Given the description of an element on the screen output the (x, y) to click on. 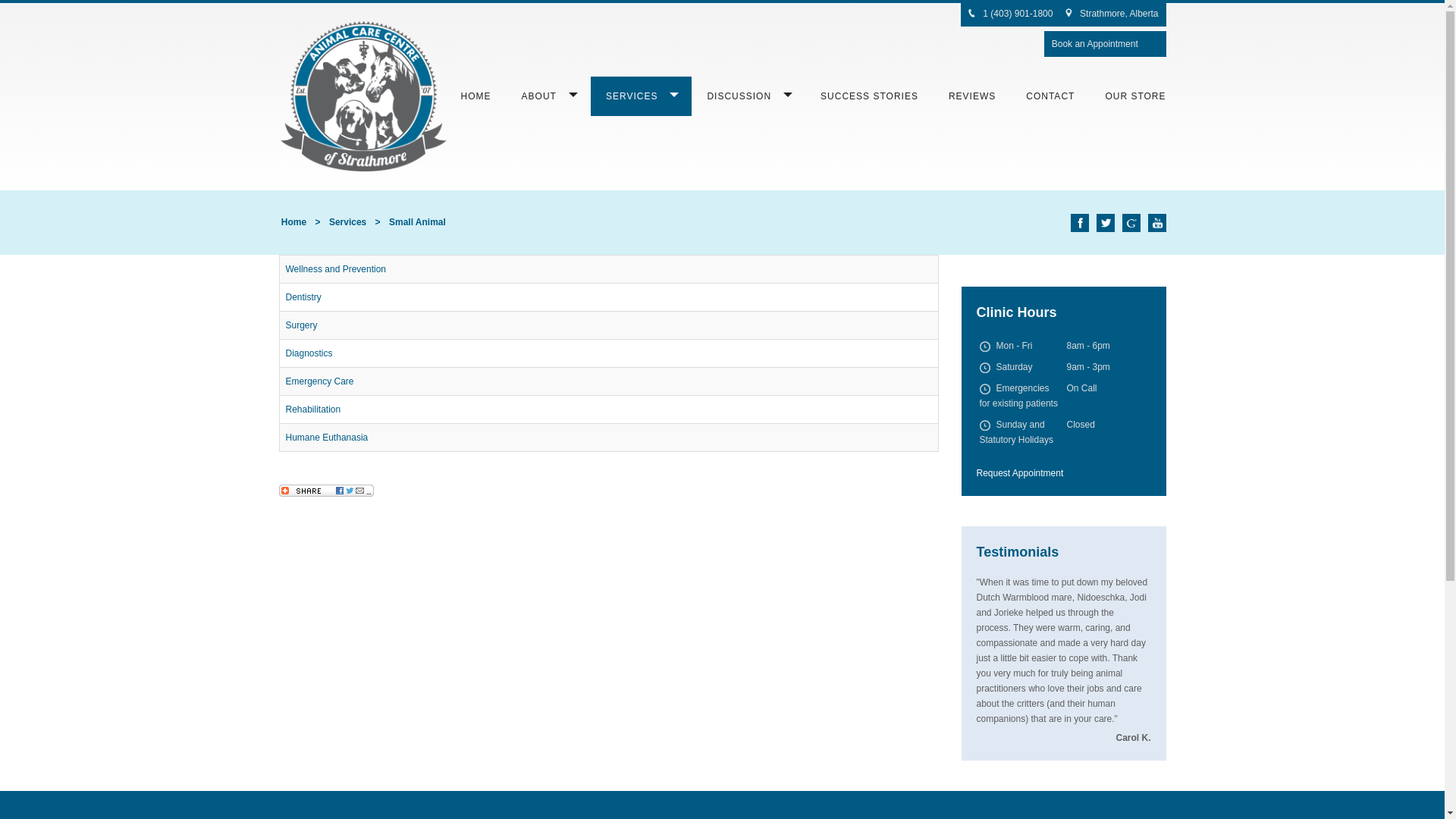
REVIEWS Element type: text (971, 96)
OUR STORE Element type: text (1134, 96)
ABOUT Element type: text (548, 96)
DISCUSSION Element type: text (748, 96)
SUCCESS STORIES Element type: text (869, 96)
Services Element type: text (347, 221)
SERVICES Element type: text (640, 96)
Humane Euthanasia Element type: text (326, 437)
Dentistry Element type: text (302, 296)
Strathmore, Alberta Element type: text (1118, 13)
HOME Element type: text (475, 96)
Request Appointment Element type: text (1019, 472)
Book an Appointment Element type: text (1094, 43)
Diagnostics Element type: text (308, 353)
Surgery Element type: text (300, 325)
Google+ Element type: hover (1131, 222)
Twitter Element type: hover (1105, 222)
Facebook Element type: hover (1079, 222)
Wellness and Prevention Element type: text (335, 268)
YouTube Element type: hover (1157, 222)
Home Element type: text (293, 221)
CONTACT Element type: text (1049, 96)
Emergency Care Element type: text (319, 381)
Rehabilitation Element type: text (312, 409)
